Given the description of an element on the screen output the (x, y) to click on. 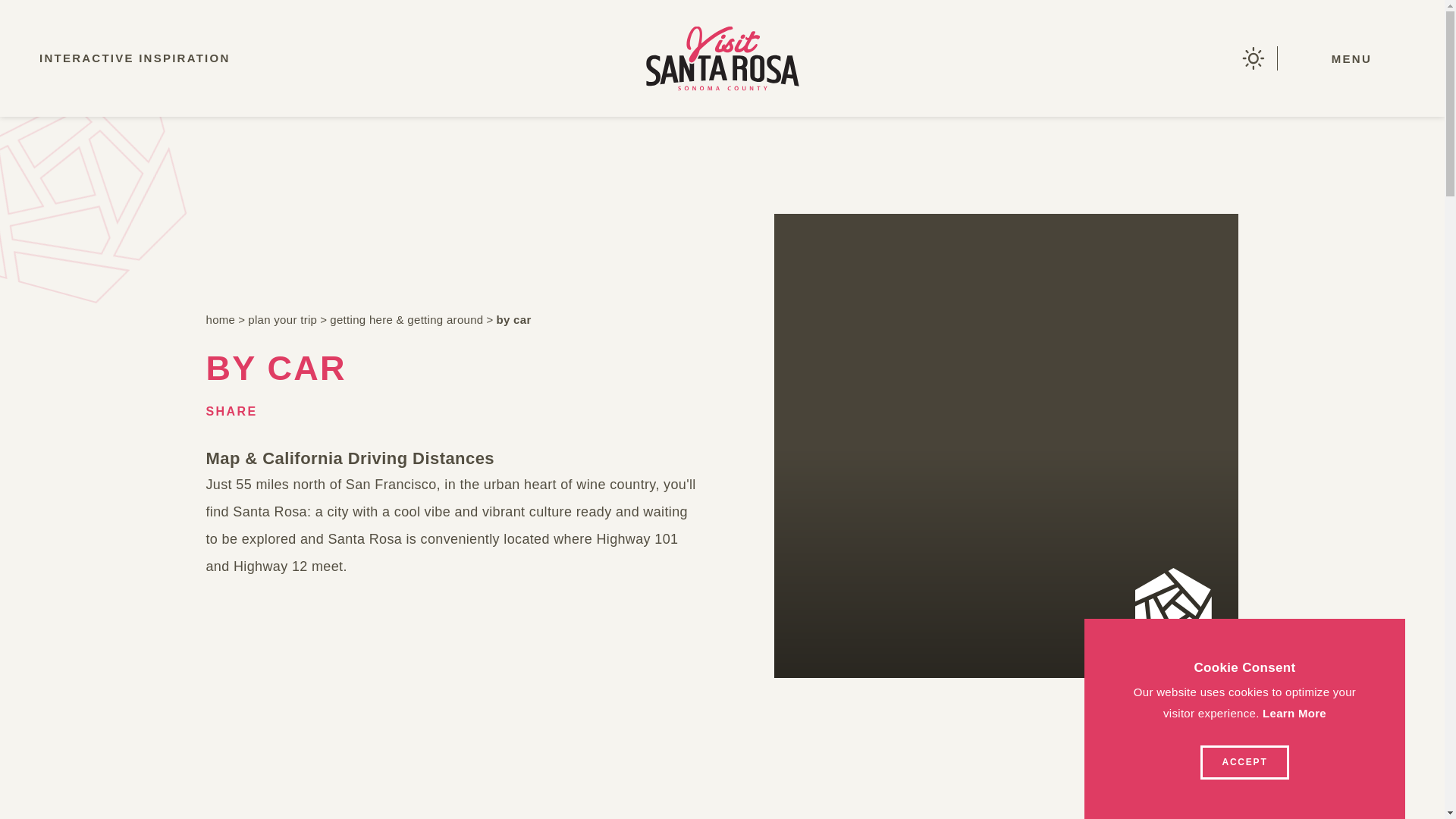
Skip to content (57, 15)
plan your trip (271, 320)
home (208, 320)
Learn More (1294, 712)
